Given the description of an element on the screen output the (x, y) to click on. 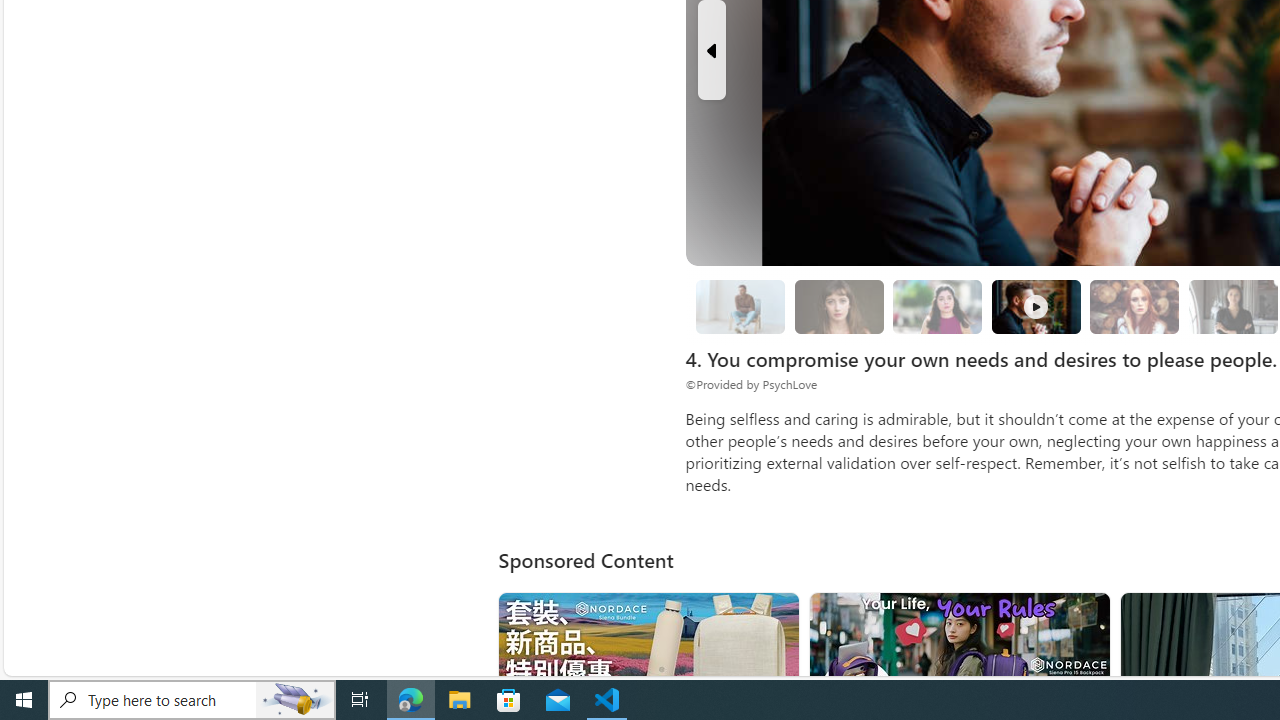
Previous Slide (711, 50)
8. Surround yourself with solution-oriented people. (1232, 307)
4. You can name and understand your feelings. (938, 307)
Class: progress (1134, 303)
3. Put some thought into it. (740, 306)
4. You can name and understand your feelings. (937, 306)
3. Put some thought into it. (740, 307)
